Given the description of an element on the screen output the (x, y) to click on. 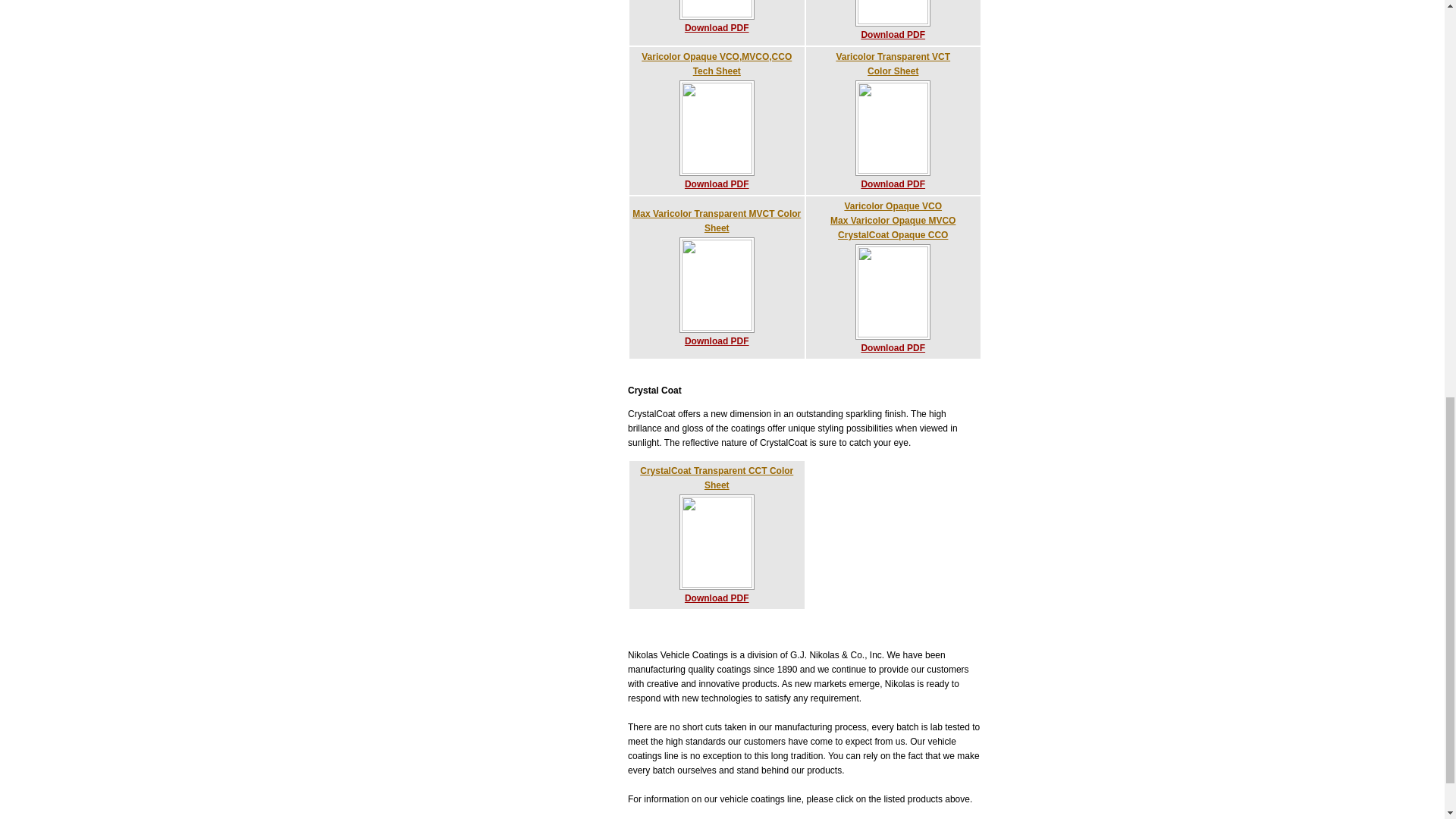
Download PDF (716, 184)
Download PDF (892, 63)
Download PDF (716, 339)
Download PDF (716, 597)
Download PDF (892, 347)
Varicolor Opaque VCO,MVCO,CCO Tech Sheet (892, 34)
Max Varicolor Transparent MVCT Color Sheet (717, 63)
CrystalCoat Transparent CCT Color Sheet (715, 220)
Download PDF (716, 478)
Download PDF (716, 27)
